Given the description of an element on the screen output the (x, y) to click on. 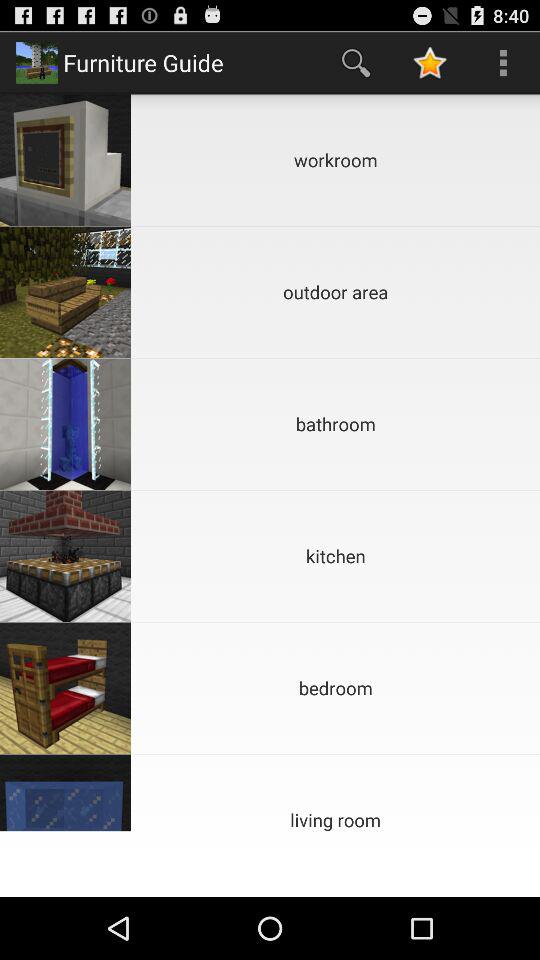
press bedroom item (335, 687)
